Given the description of an element on the screen output the (x, y) to click on. 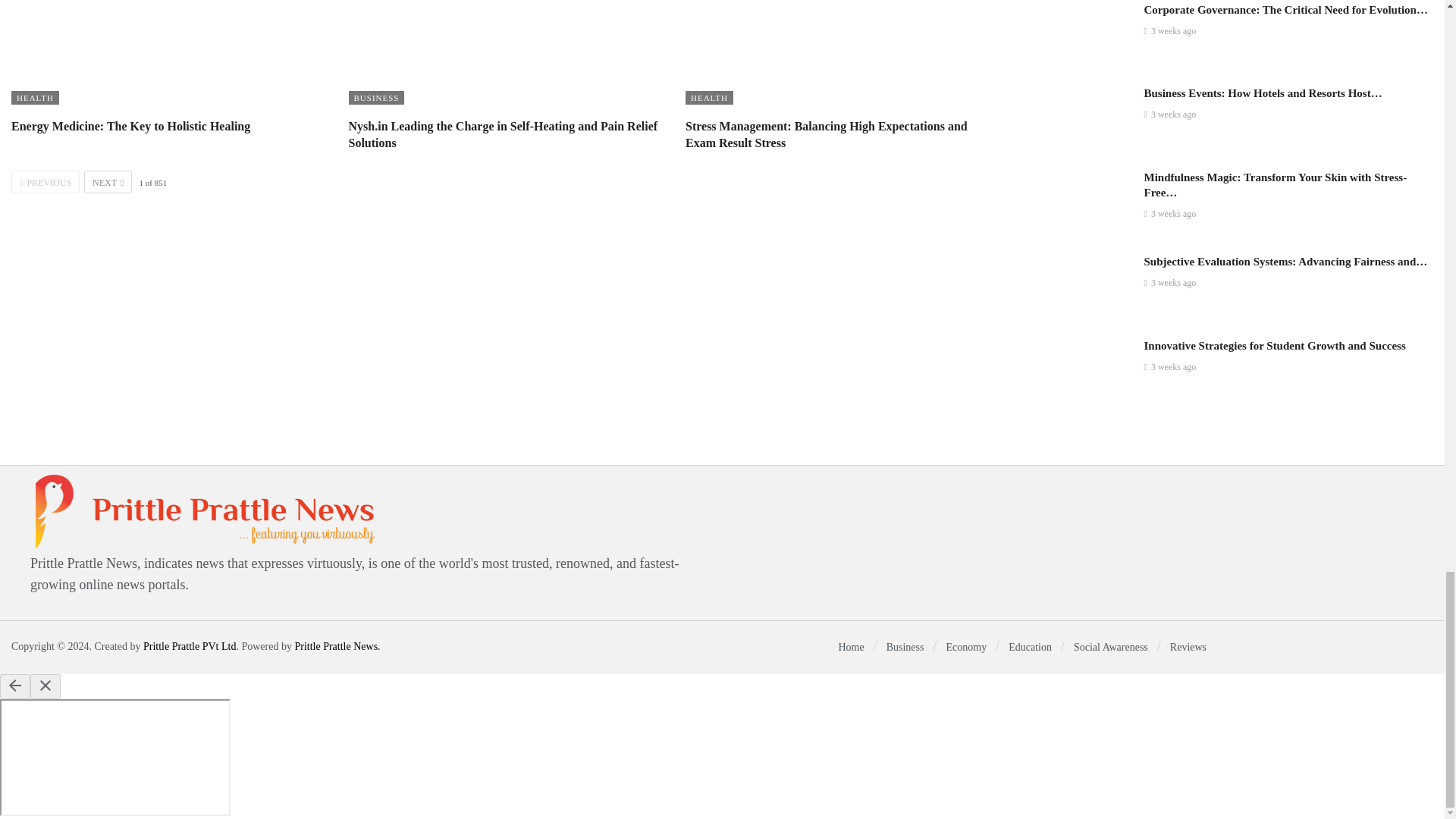
Energy Medicine: The Key to Holistic Healing (168, 53)
Previous (45, 181)
Energy Medicine: The Key to Holistic Healing (130, 125)
Next (108, 181)
